Given the description of an element on the screen output the (x, y) to click on. 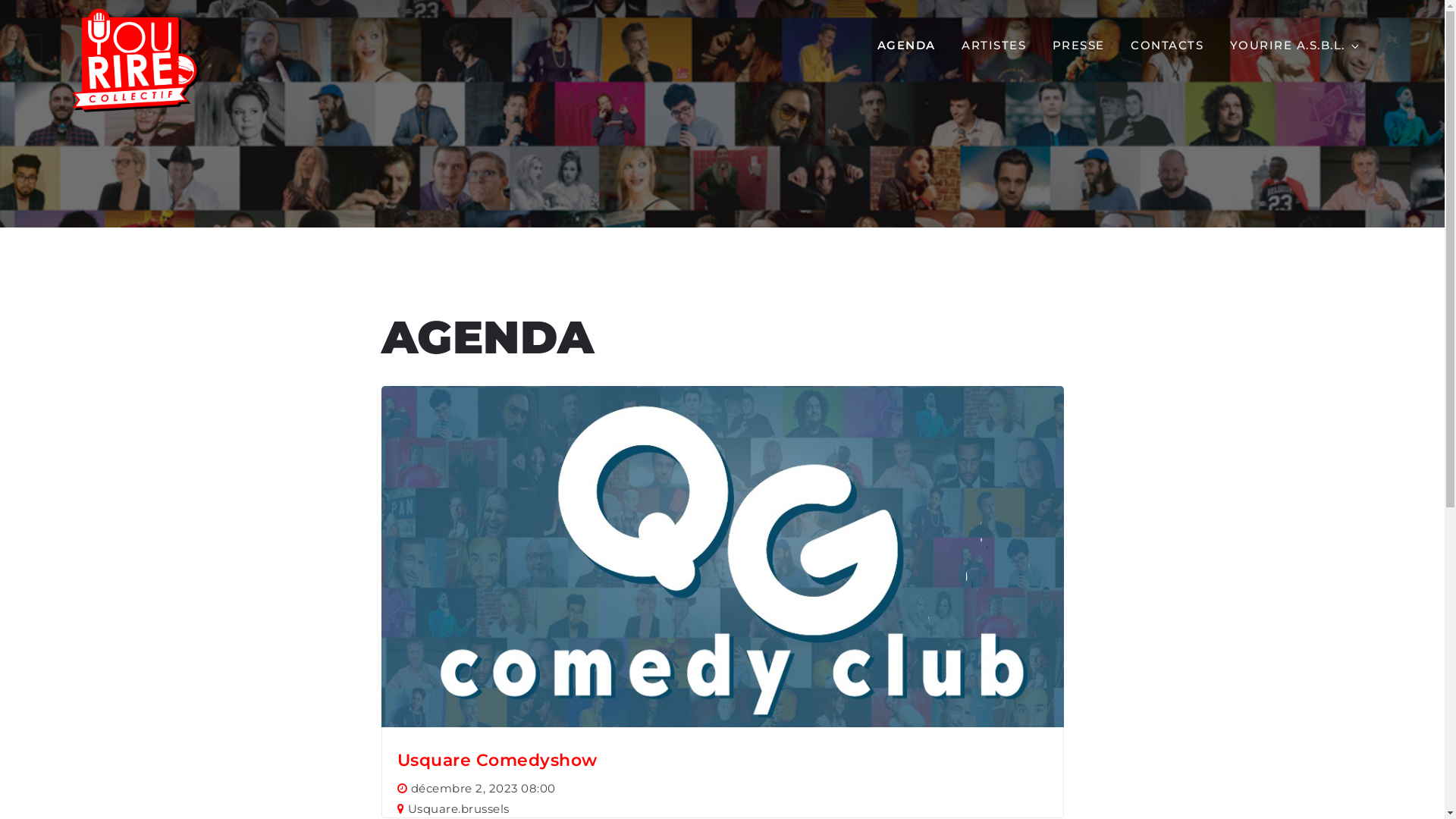
PRESSE Element type: text (1078, 45)
ARTISTES Element type: text (993, 45)
CONTACTS Element type: text (1166, 45)
AGENDA Element type: text (906, 45)
Yourire Collectif Element type: text (317, 57)
Usquare Comedyshow Element type: text (497, 759)
YOURIRE A.S.B.L. Element type: text (1295, 45)
